Given the description of an element on the screen output the (x, y) to click on. 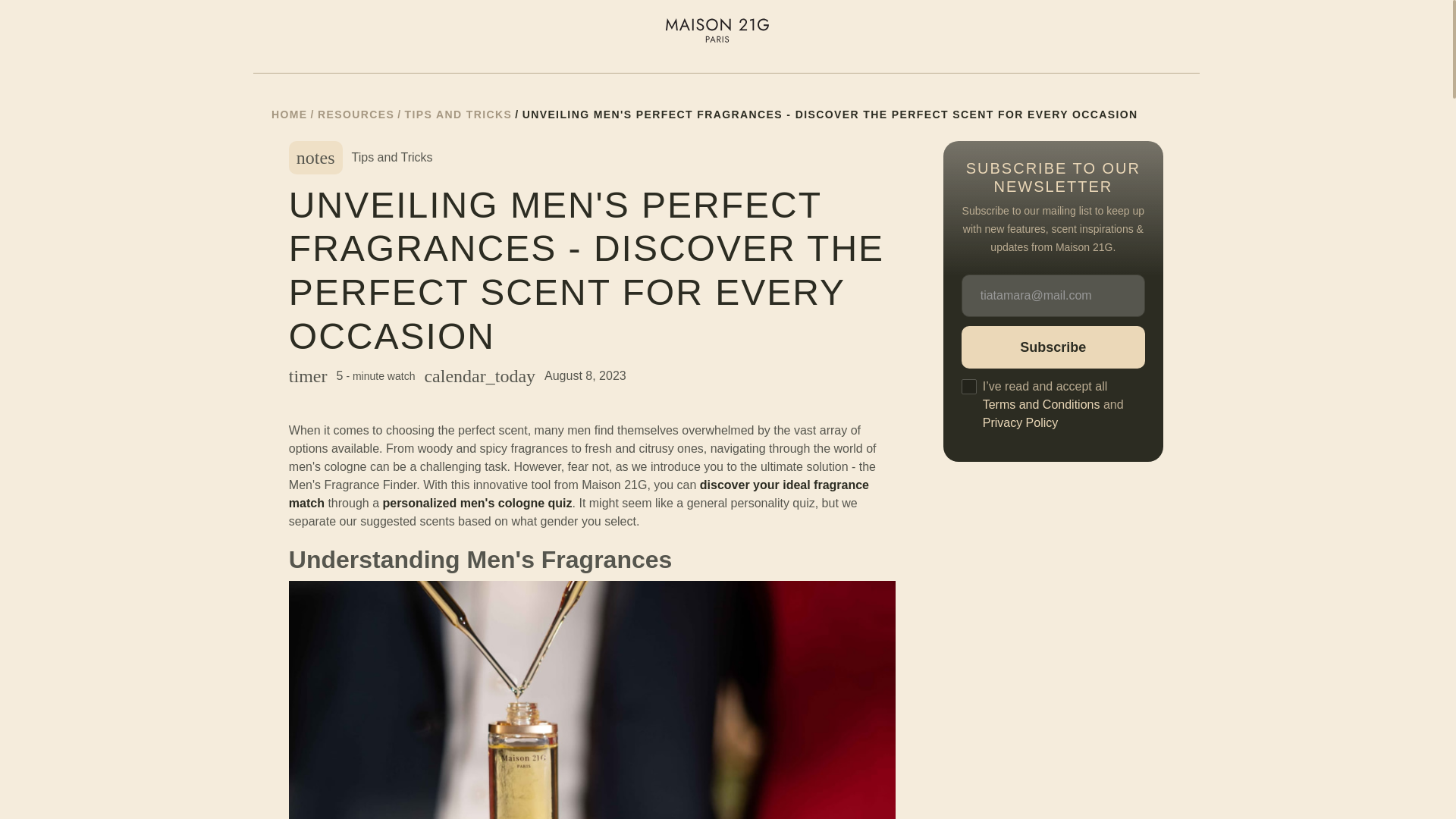
HOME (288, 114)
Privacy Policy (1020, 422)
Subscribe (1052, 346)
Subscribe (1052, 346)
RESOURCES (355, 114)
personalized men's cologne quiz (476, 502)
TIPS AND TRICKS (458, 114)
Terms and Conditions (1041, 404)
discover your ideal fragrance match (578, 493)
